Given the description of an element on the screen output the (x, y) to click on. 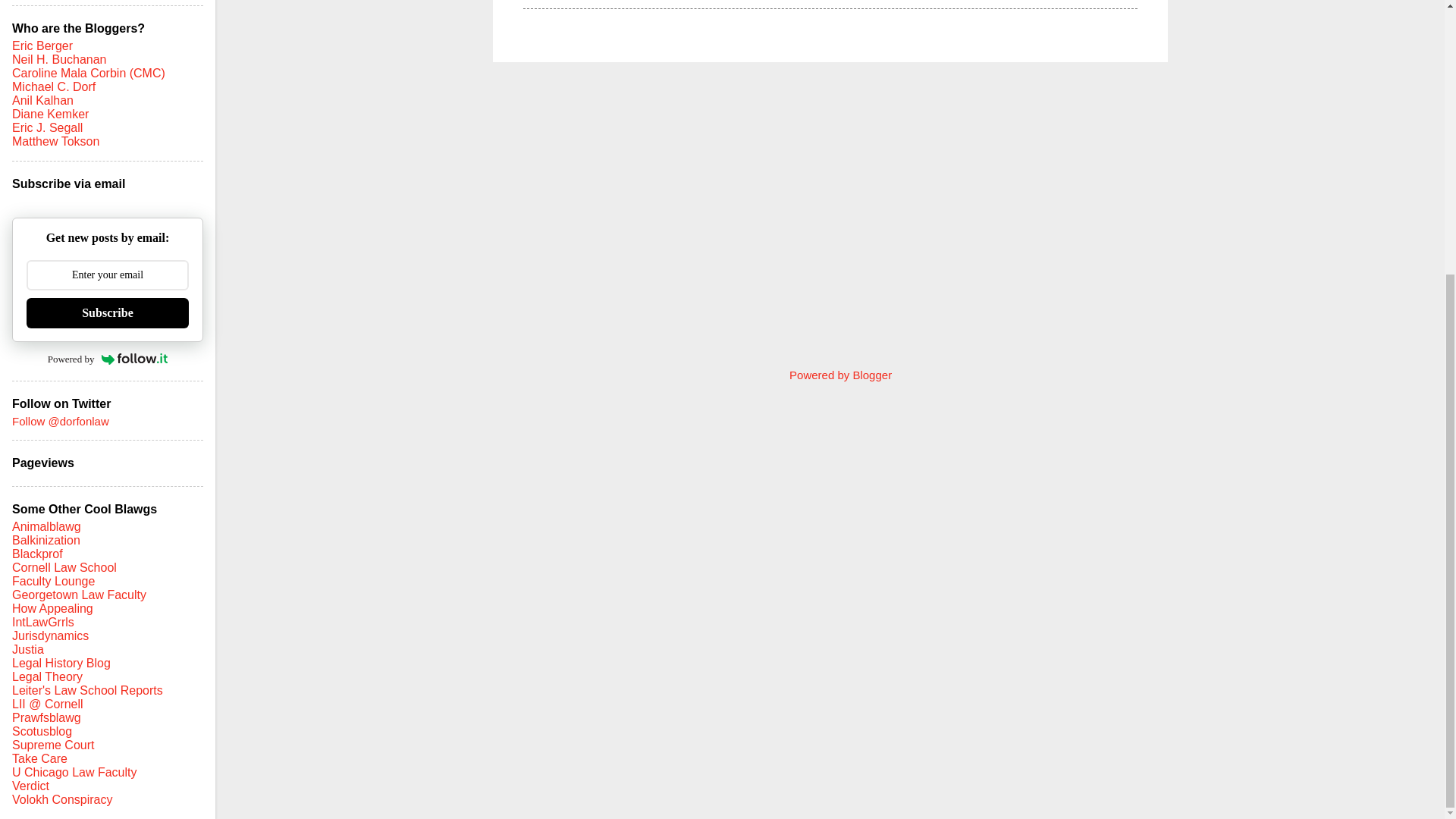
Powered by Blogger (829, 374)
